Given the description of an element on the screen output the (x, y) to click on. 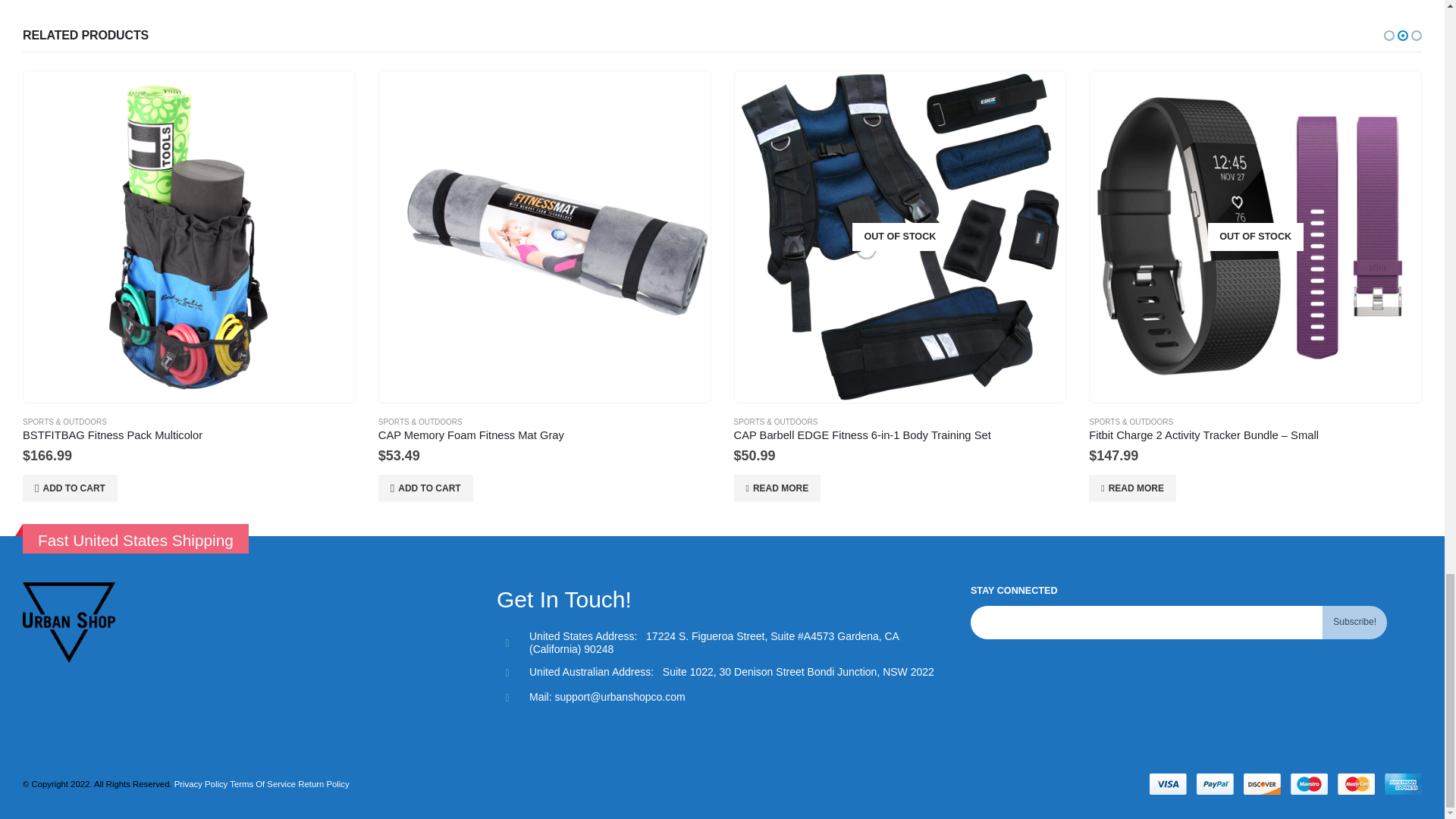
Subscribe! (1354, 622)
